Given the description of an element on the screen output the (x, y) to click on. 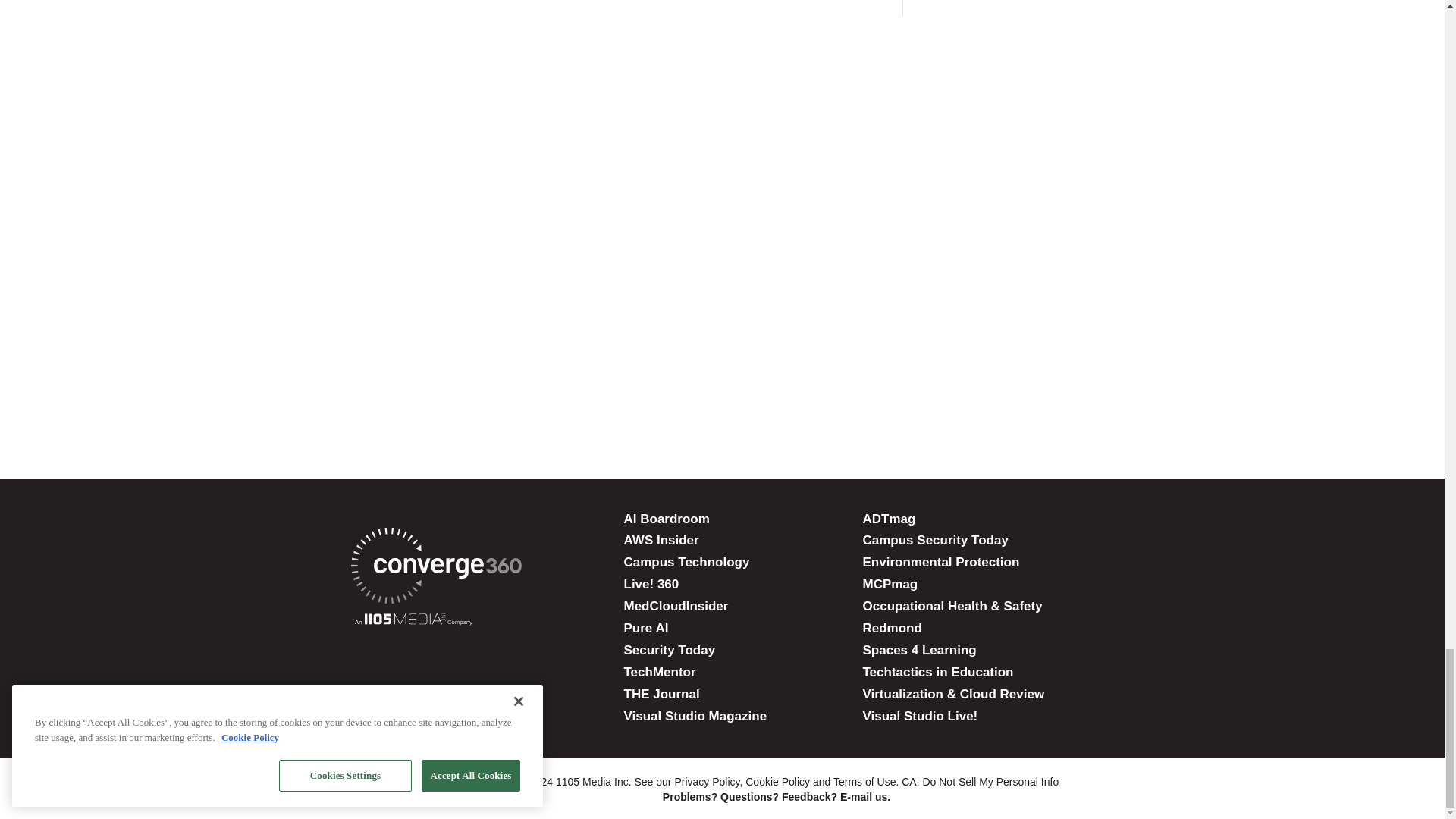
3rd party ad content (721, 386)
3rd party ad content (721, 287)
